Given the description of an element on the screen output the (x, y) to click on. 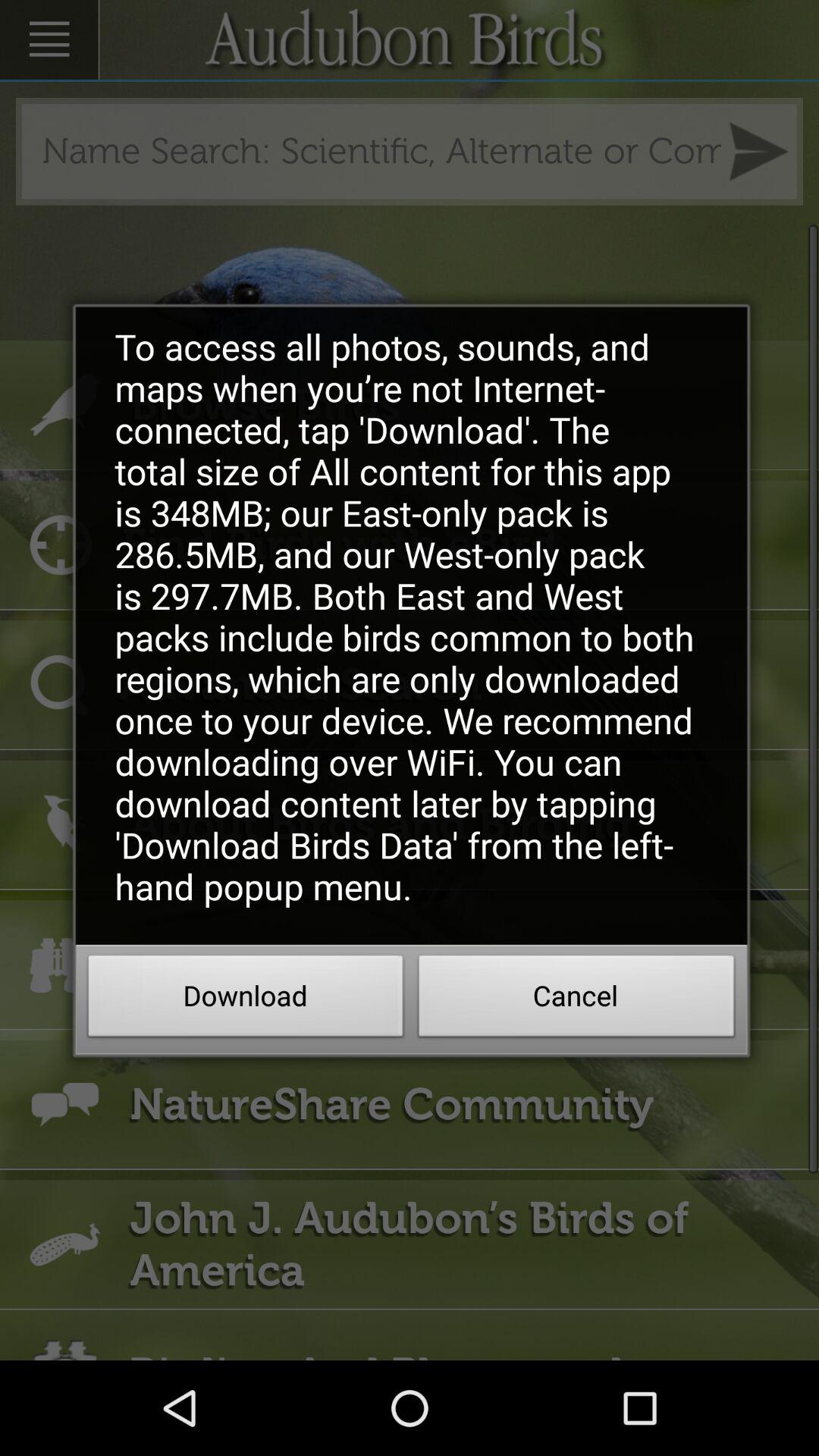
turn off cancel at the bottom right corner (576, 1000)
